Given the description of an element on the screen output the (x, y) to click on. 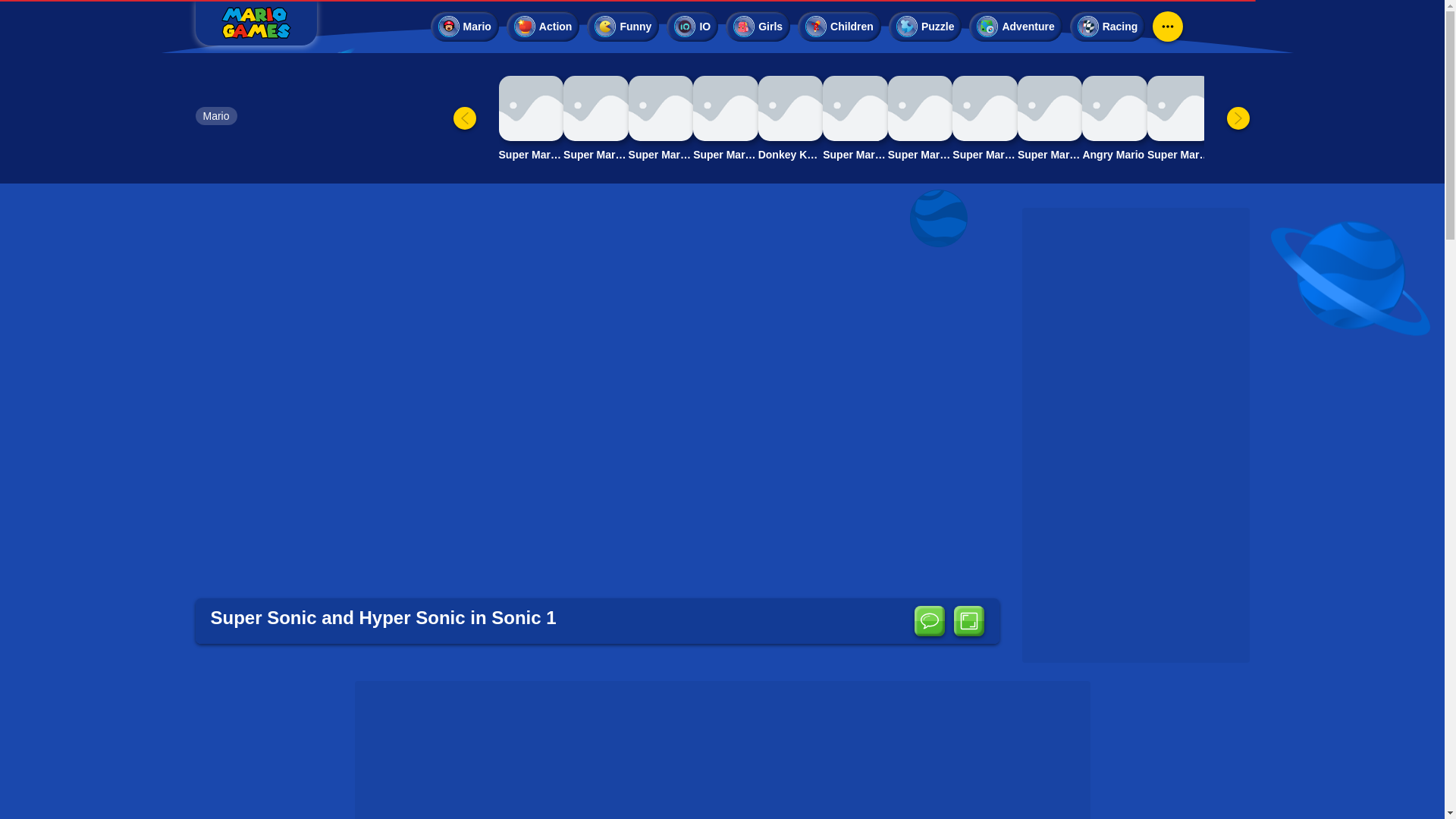
Mario (464, 26)
Children (838, 26)
Mario (216, 116)
Action (542, 26)
Funny (622, 26)
IO (691, 26)
Mario (216, 116)
Girls (757, 26)
Adventure (1015, 26)
Puzzle (925, 26)
